Given the description of an element on the screen output the (x, y) to click on. 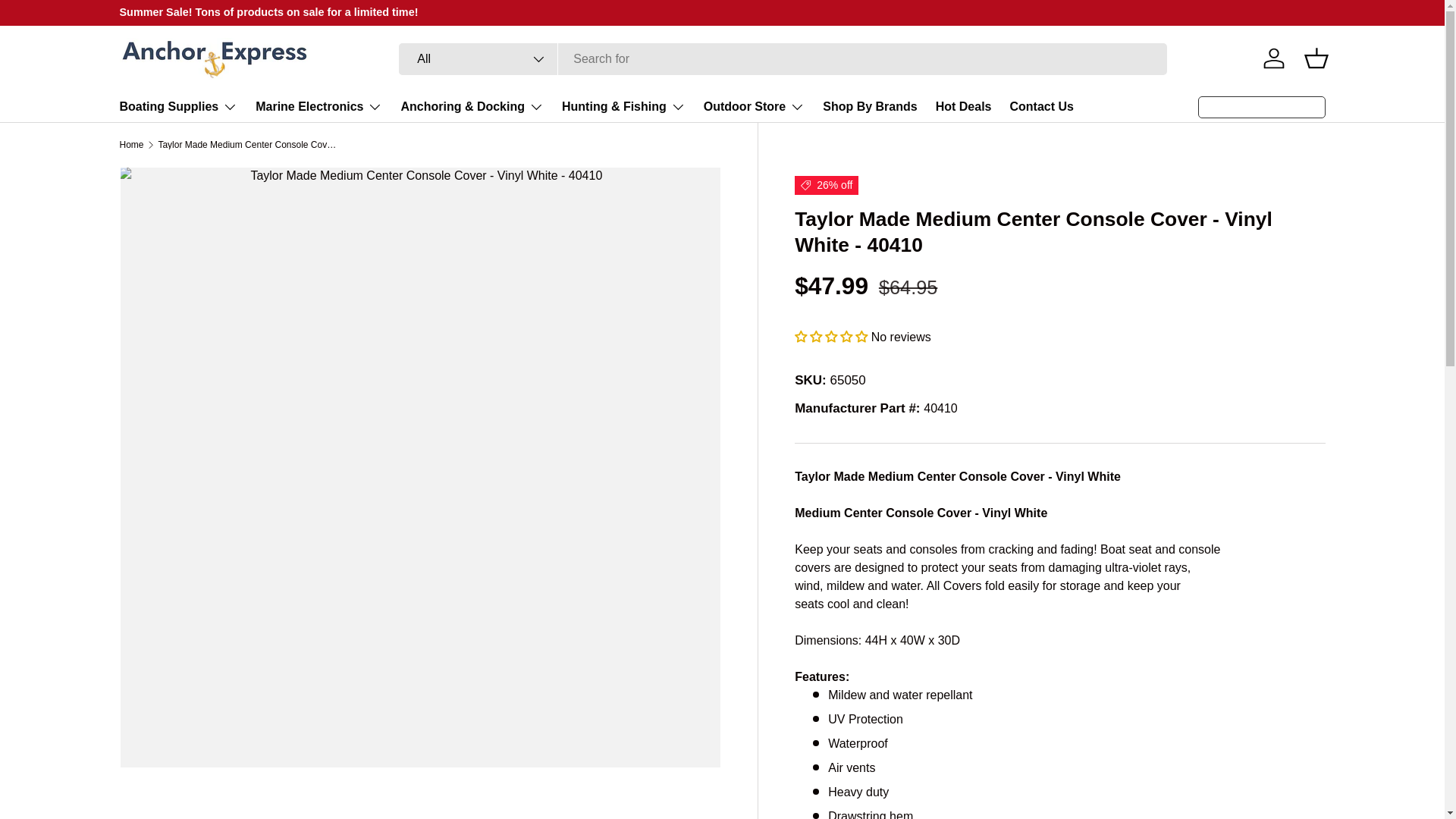
Log in (1273, 58)
All (477, 59)
Boating Supplies (178, 106)
Skip to content (68, 21)
Basket (1316, 58)
